Given the description of an element on the screen output the (x, y) to click on. 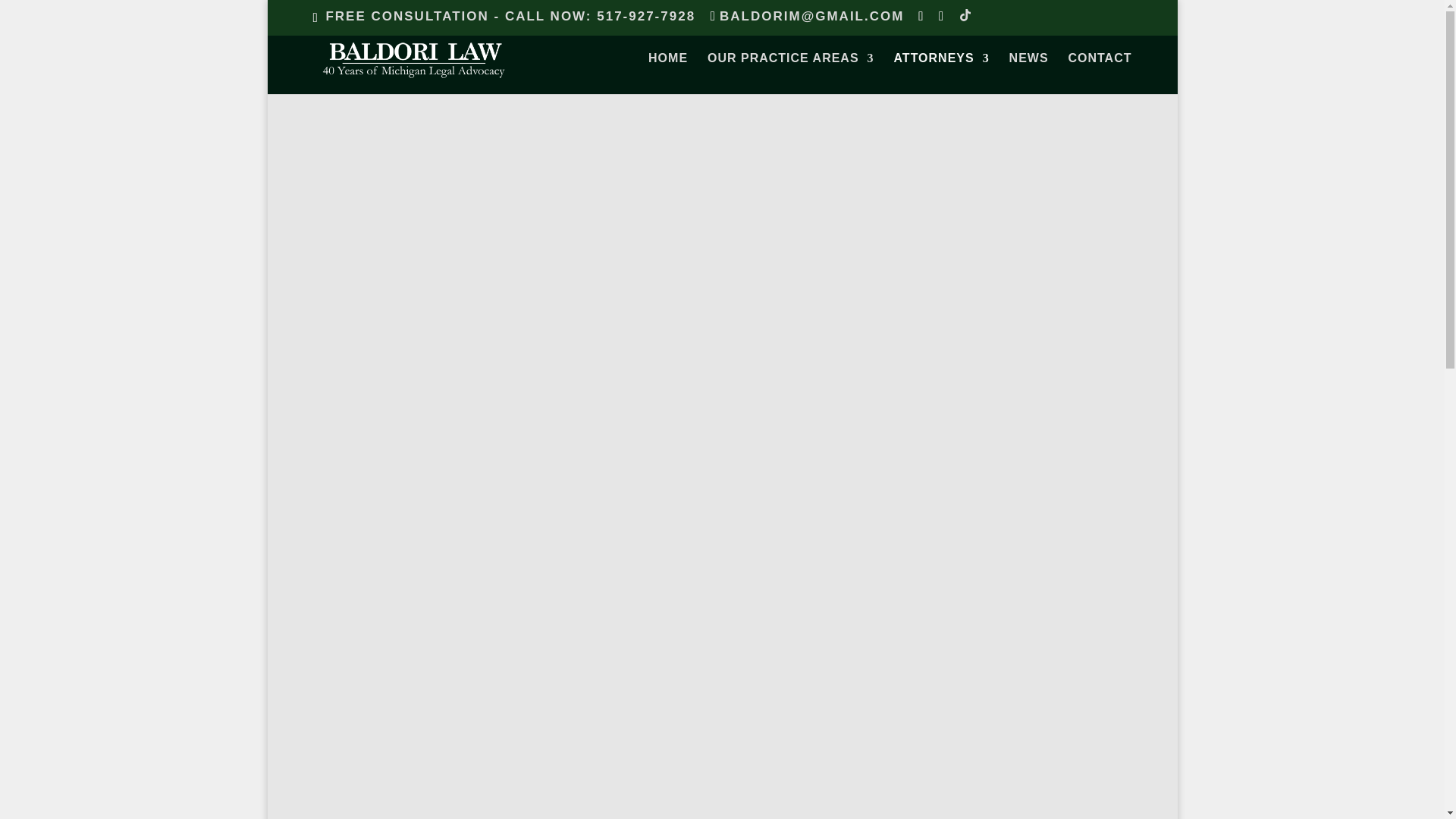
ATTORNEYS (940, 73)
HOME (667, 73)
CALL NOW: 517-927-7928 (600, 16)
OUR PRACTICE AREAS (791, 73)
NEWS (1028, 73)
CONTACT (1099, 73)
